Given the description of an element on the screen output the (x, y) to click on. 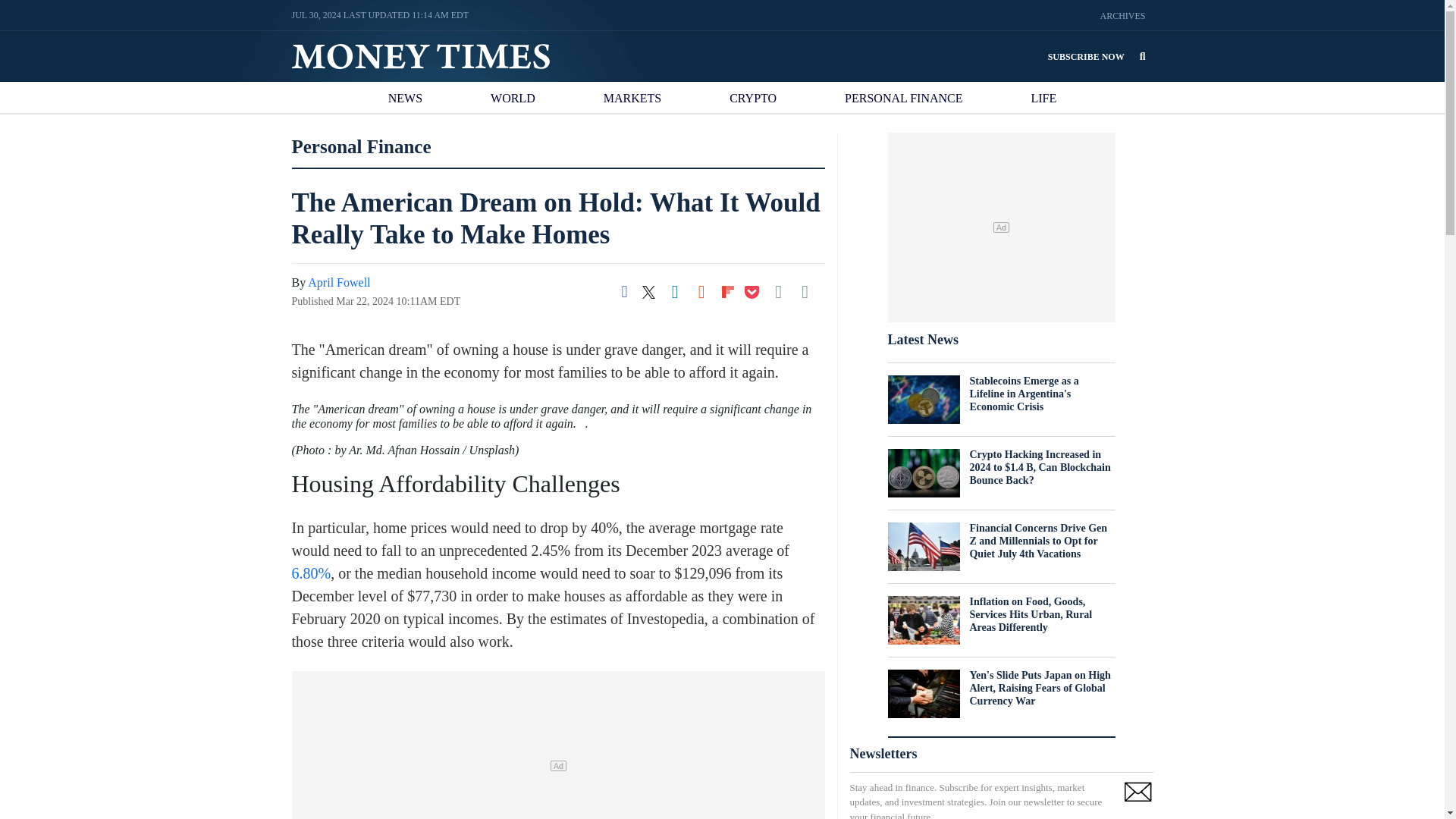
Share on Twitter (648, 290)
SUBSCRIBE NOW (1086, 56)
ARCHIVES (1121, 15)
MARKETS (632, 101)
LIFE (1044, 101)
Share on Facebook (624, 290)
April Fowell (338, 282)
CRYPTO (752, 101)
WORLD (513, 101)
Share on Pocket (751, 290)
NEWS (405, 101)
PERSONAL FINANCE (903, 101)
